Given the description of an element on the screen output the (x, y) to click on. 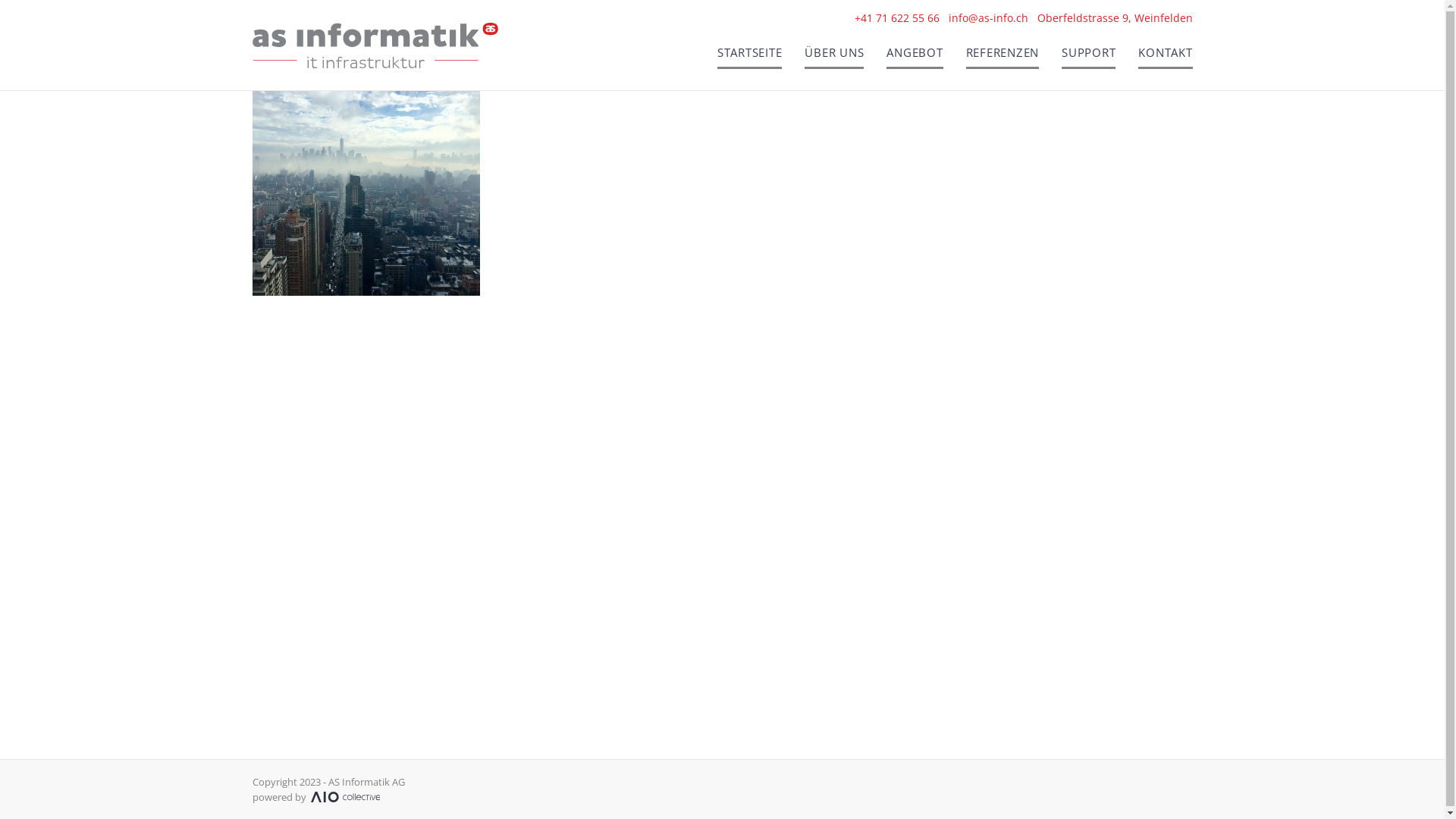
info@as-info.ch Element type: text (987, 17)
+41 71 622 55 66 Element type: text (895, 17)
SUPPORT Element type: text (1088, 57)
ANGEBOT Element type: text (914, 57)
Oberfeldstrasse 9, Weinfelden Element type: text (1114, 17)
STARTSEITE Element type: text (749, 57)
KONTAKT Element type: text (1165, 57)
REFERENZEN Element type: text (1002, 57)
